Given the description of an element on the screen output the (x, y) to click on. 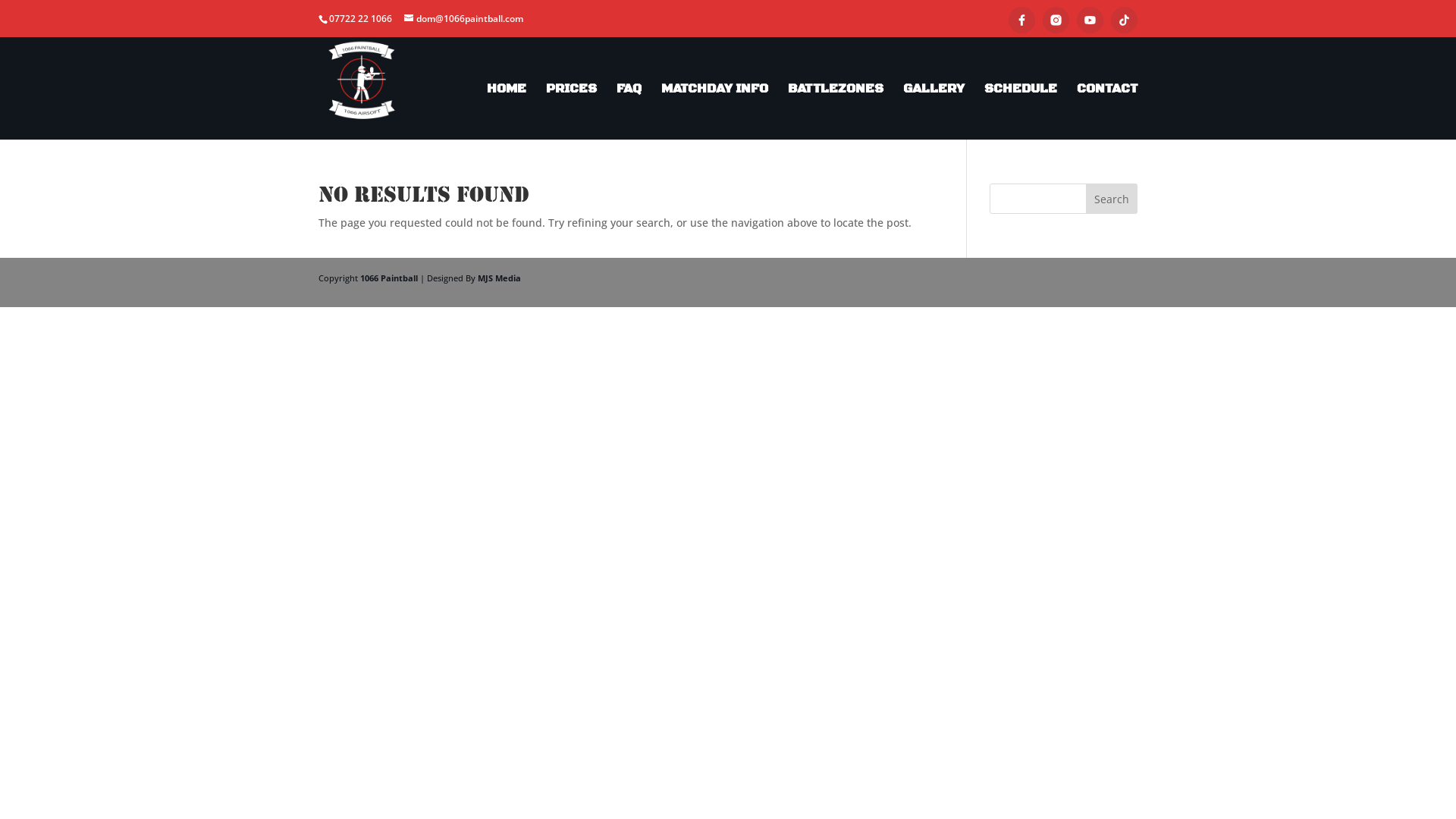
GALLERY Element type: text (933, 111)
SCHEDULE Element type: text (1020, 111)
1066 Paintball Element type: text (388, 277)
Search Element type: text (1111, 198)
BATTLEZONES Element type: text (835, 111)
FAQ Element type: text (628, 111)
MATCHDAY INFO Element type: text (714, 111)
MJS Media Element type: text (498, 277)
CONTACT Element type: text (1106, 111)
PRICES Element type: text (571, 111)
dom@1066paintball.com Element type: text (463, 18)
HOME Element type: text (506, 111)
